Given the description of an element on the screen output the (x, y) to click on. 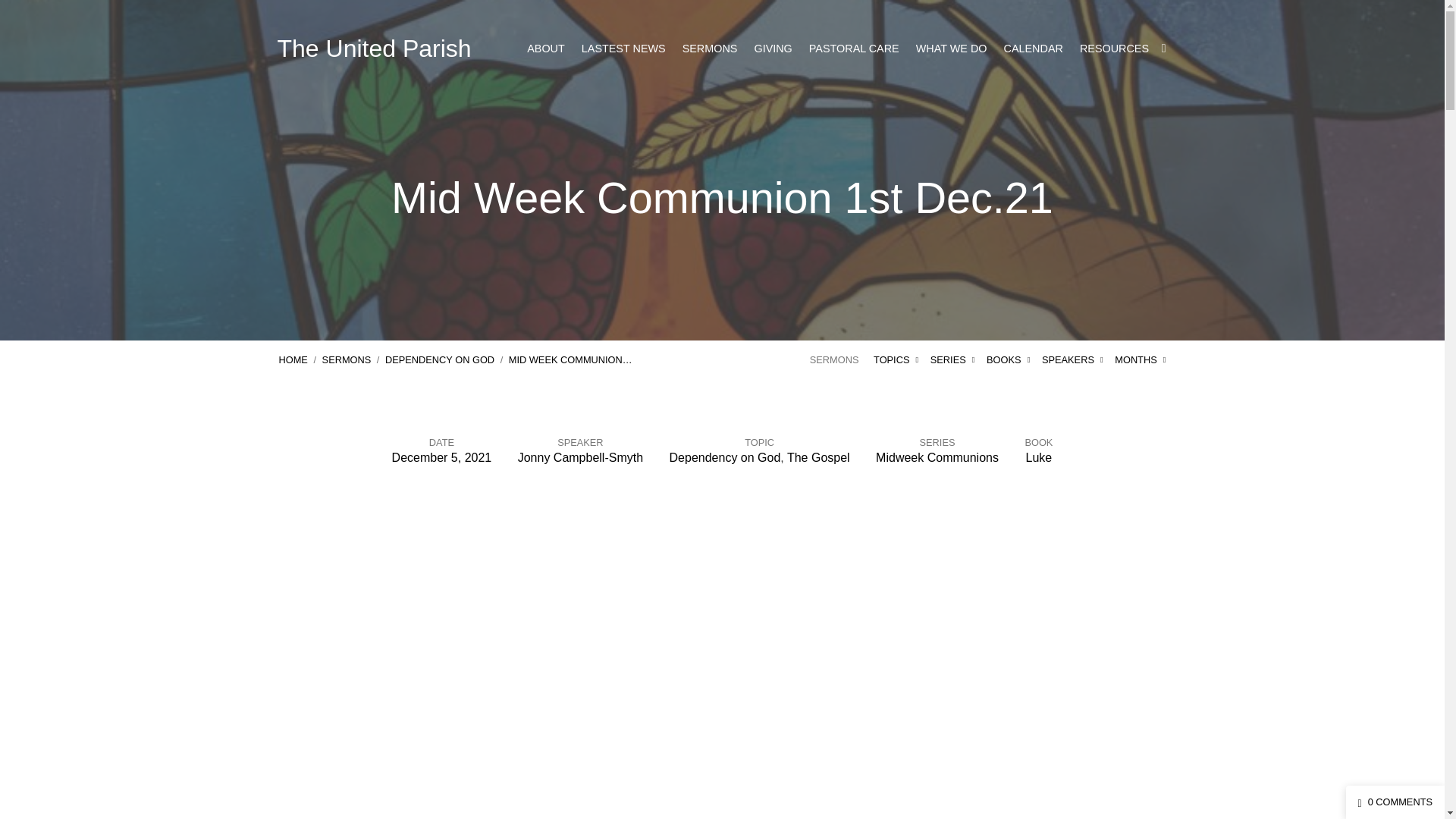
0 COMMENTS (1395, 801)
PASTORAL CARE (854, 48)
LASTEST NEWS (622, 48)
ABOUT (545, 48)
GIVING (773, 48)
WHAT WE DO (951, 48)
SERMONS (710, 48)
The United Parish (374, 48)
